Given the description of an element on the screen output the (x, y) to click on. 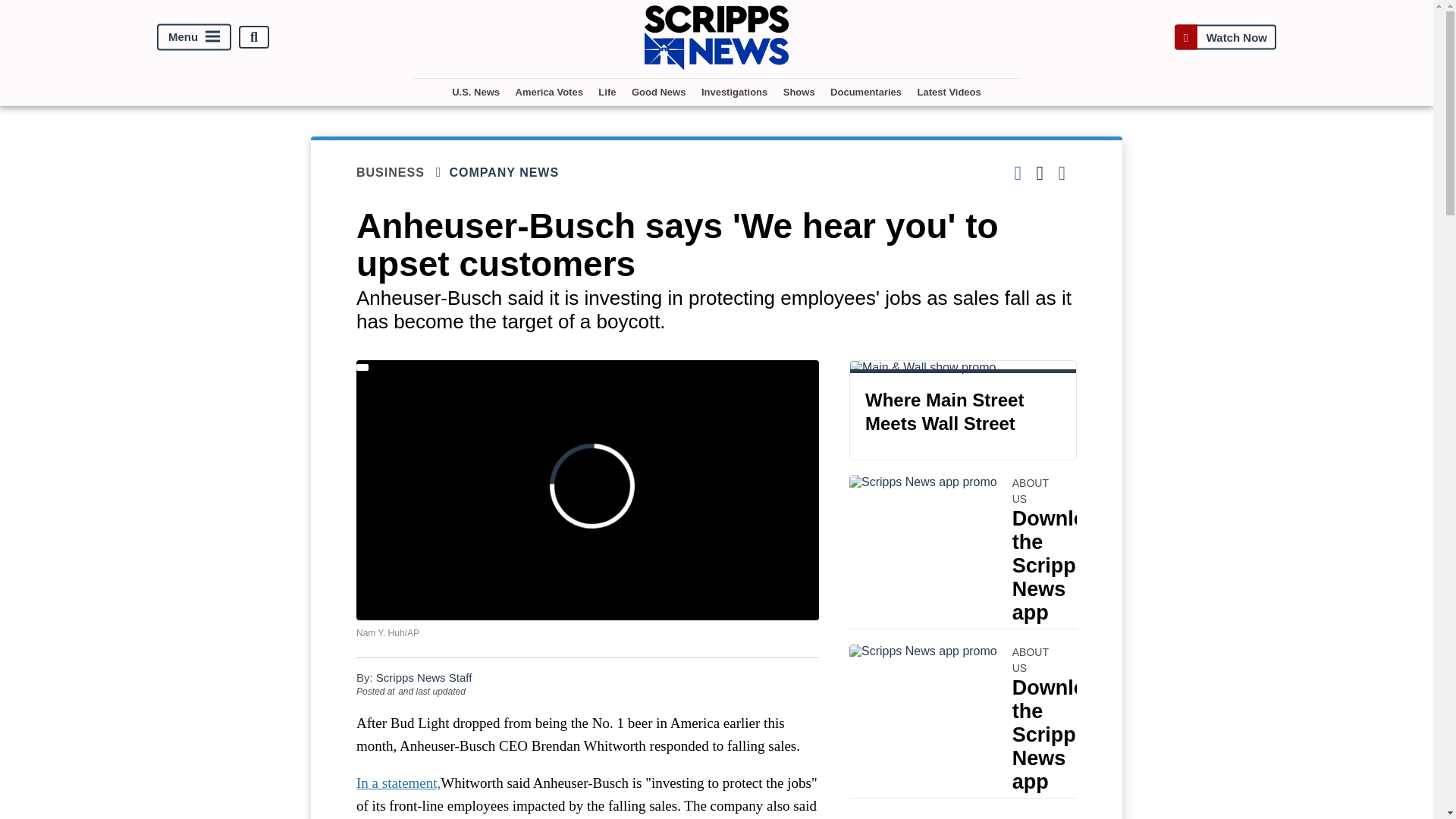
Menu (194, 37)
Watch Now (1224, 37)
